Given the description of an element on the screen output the (x, y) to click on. 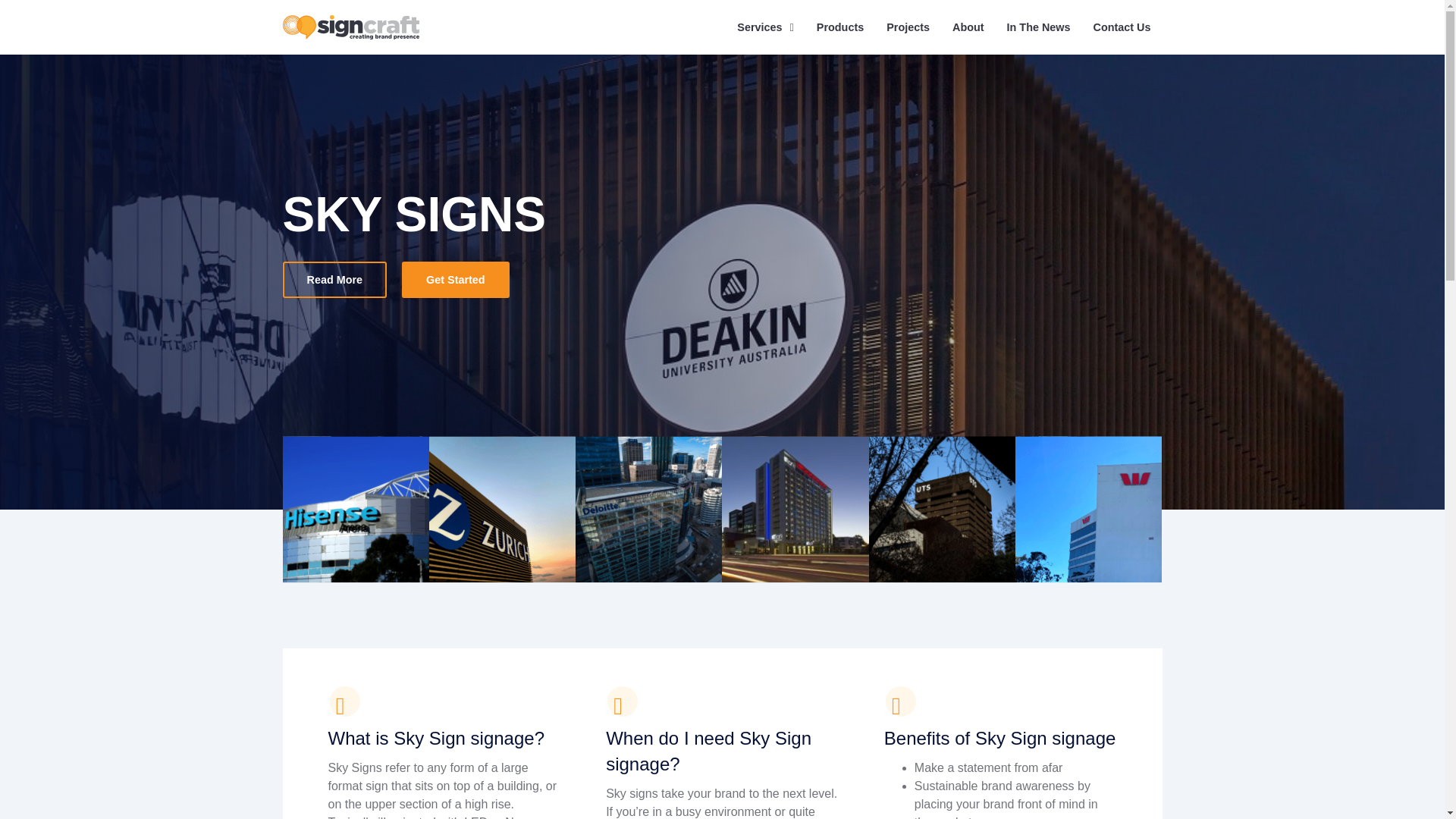
Projects (907, 27)
In The News (1038, 27)
About (967, 27)
Products (840, 27)
Services (765, 27)
Contact Us (1121, 27)
